Given the description of an element on the screen output the (x, y) to click on. 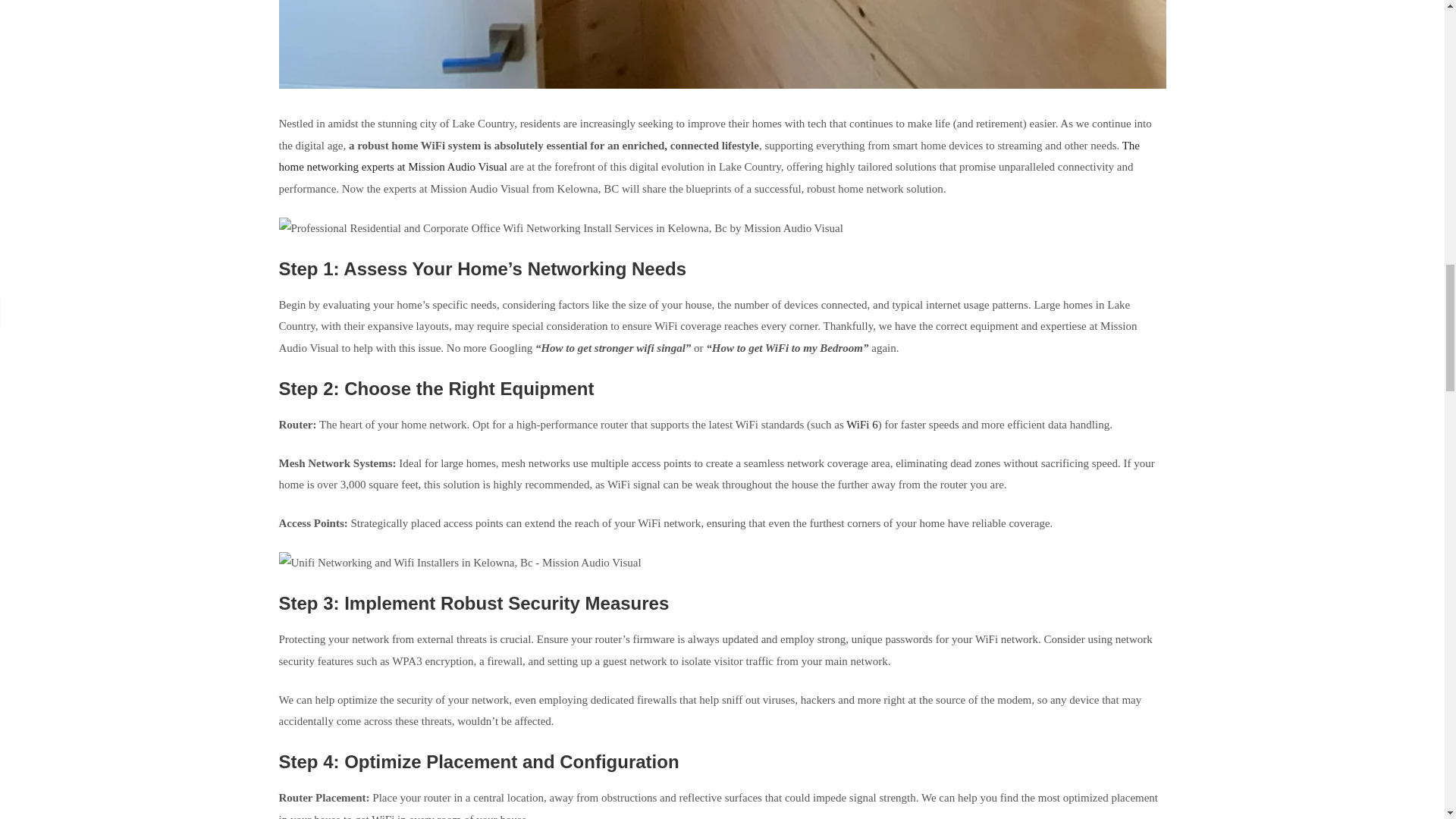
WiFi 6 (861, 424)
The home networking experts at Mission Audio Visual (709, 156)
